Given the description of an element on the screen output the (x, y) to click on. 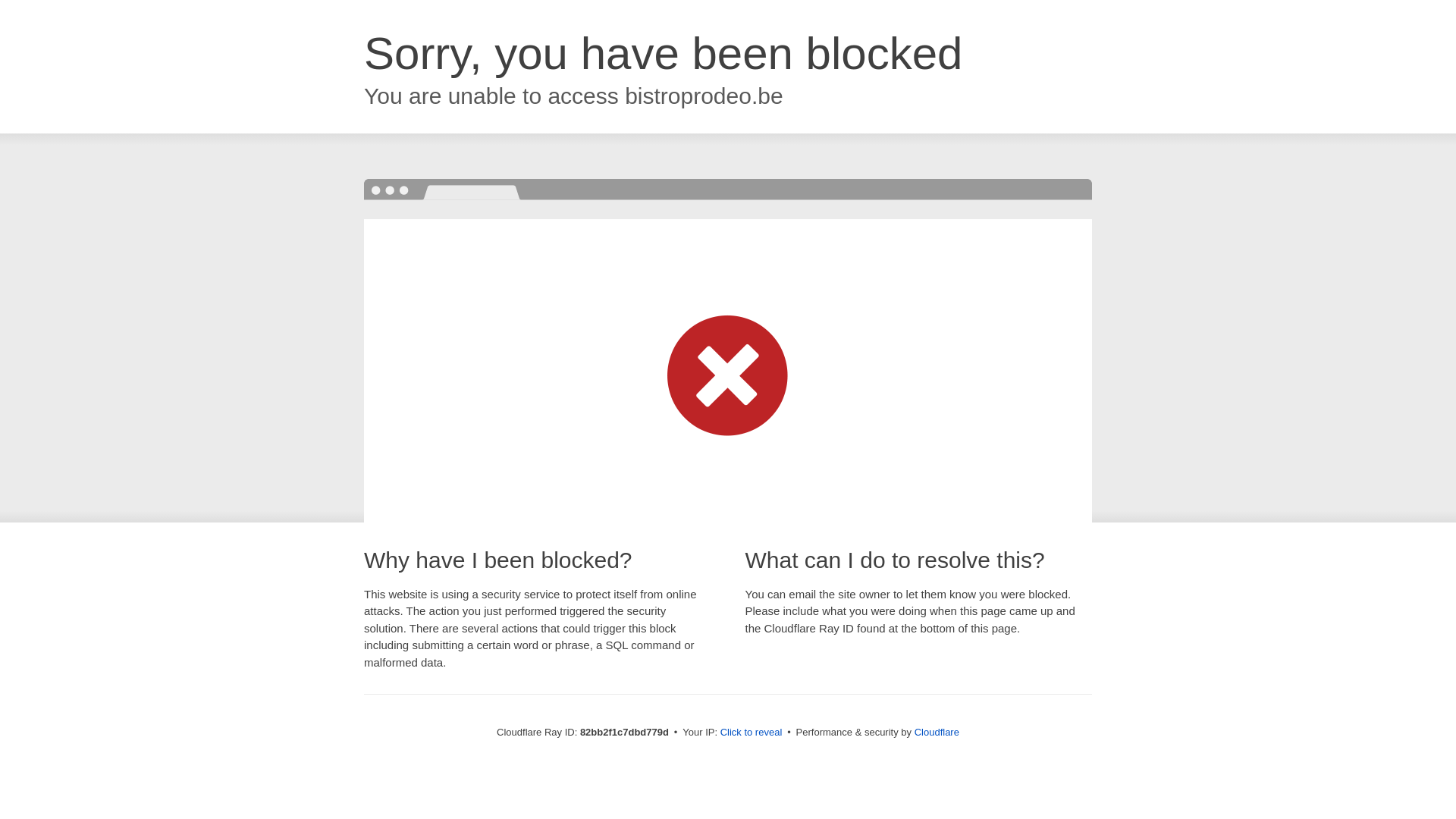
Cloudflare Element type: text (936, 731)
Click to reveal Element type: text (751, 732)
